Given the description of an element on the screen output the (x, y) to click on. 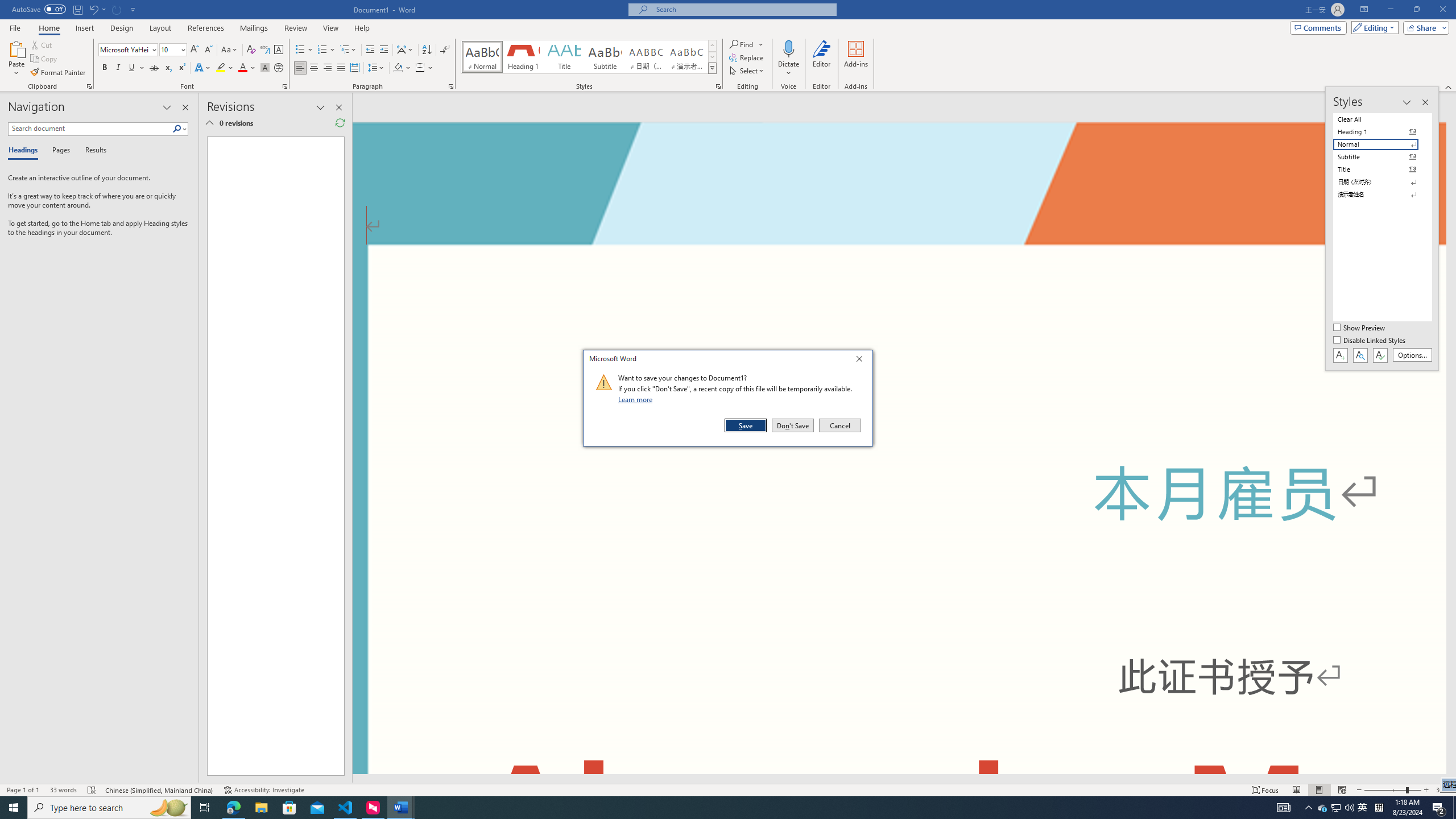
User Promoted Notification Area (1336, 807)
Change Case (229, 49)
Review (295, 28)
Text Highlight Color (224, 67)
Font Color Red (241, 67)
Numbering (322, 49)
Undo Paragraph Alignment (96, 9)
Results (91, 150)
Borders (419, 67)
Select (747, 69)
Language Chinese (Simplified, Mainland China) (159, 790)
Class: NetUIImage (603, 382)
Grow Font (193, 49)
Italic (118, 67)
